Given the description of an element on the screen output the (x, y) to click on. 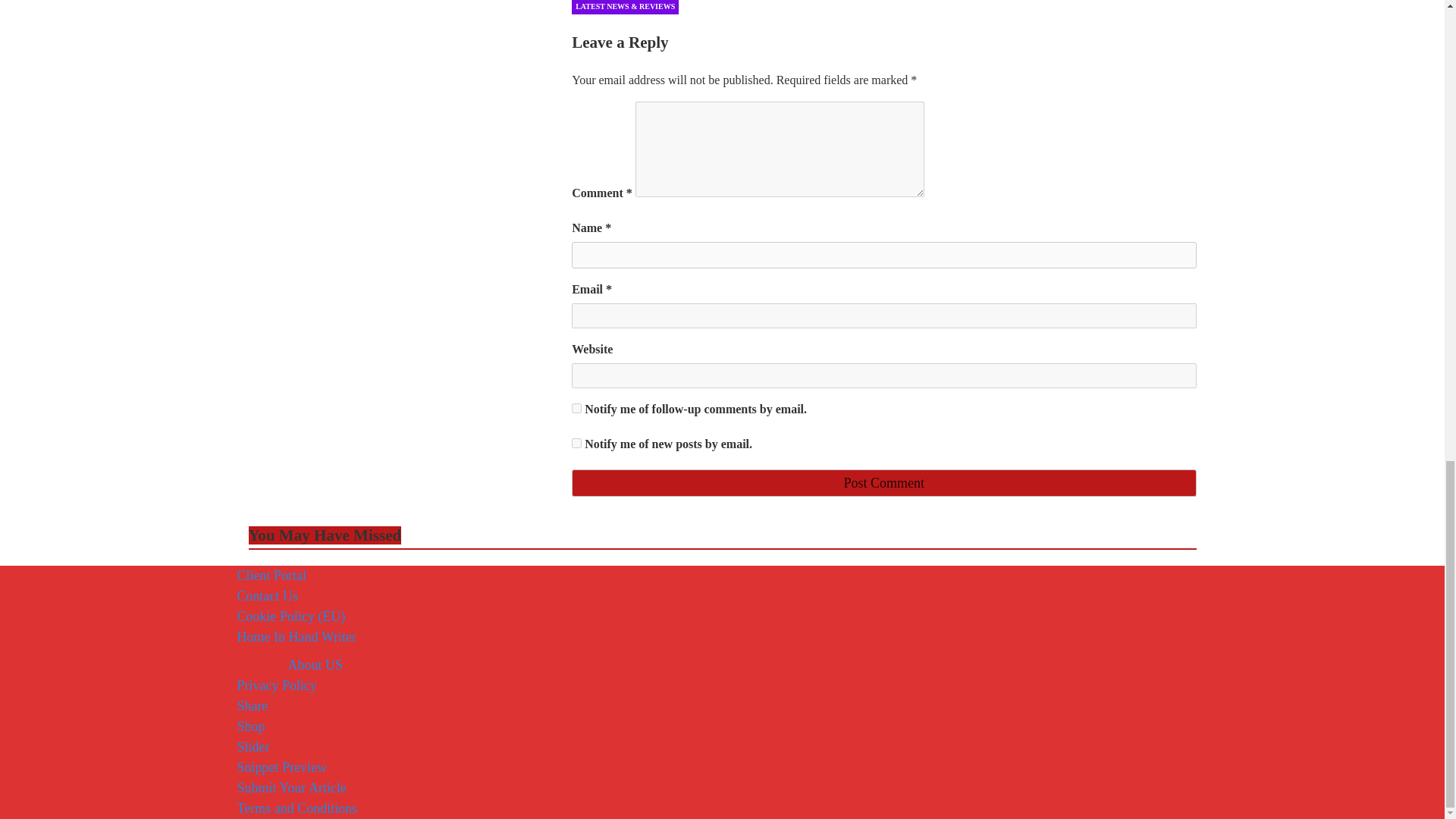
subscribe (576, 442)
Post Comment (883, 482)
subscribe (576, 408)
